Given the description of an element on the screen output the (x, y) to click on. 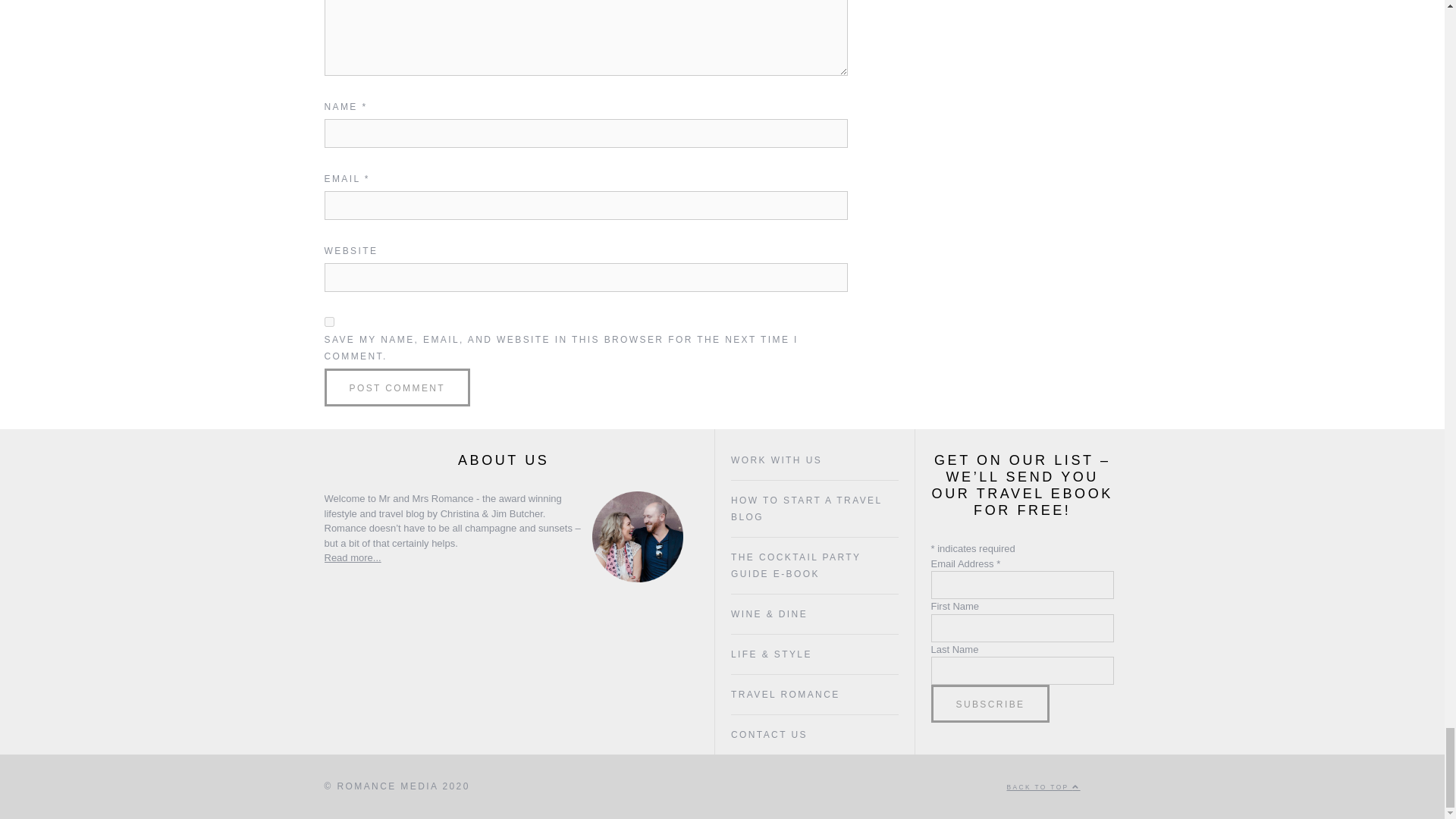
Post Comment (397, 387)
yes (329, 321)
Subscribe (990, 703)
